Given the description of an element on the screen output the (x, y) to click on. 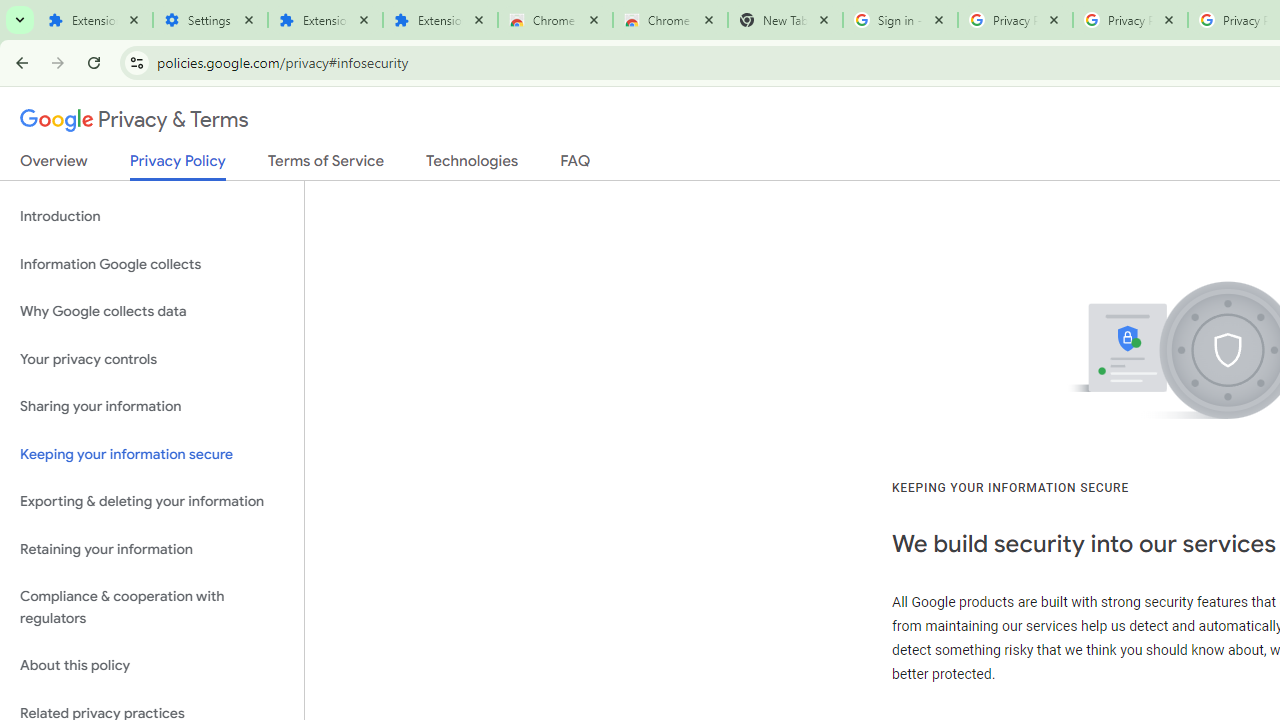
Terms of Service (326, 165)
Extensions (324, 20)
Chrome Web Store (555, 20)
